Given the description of an element on the screen output the (x, y) to click on. 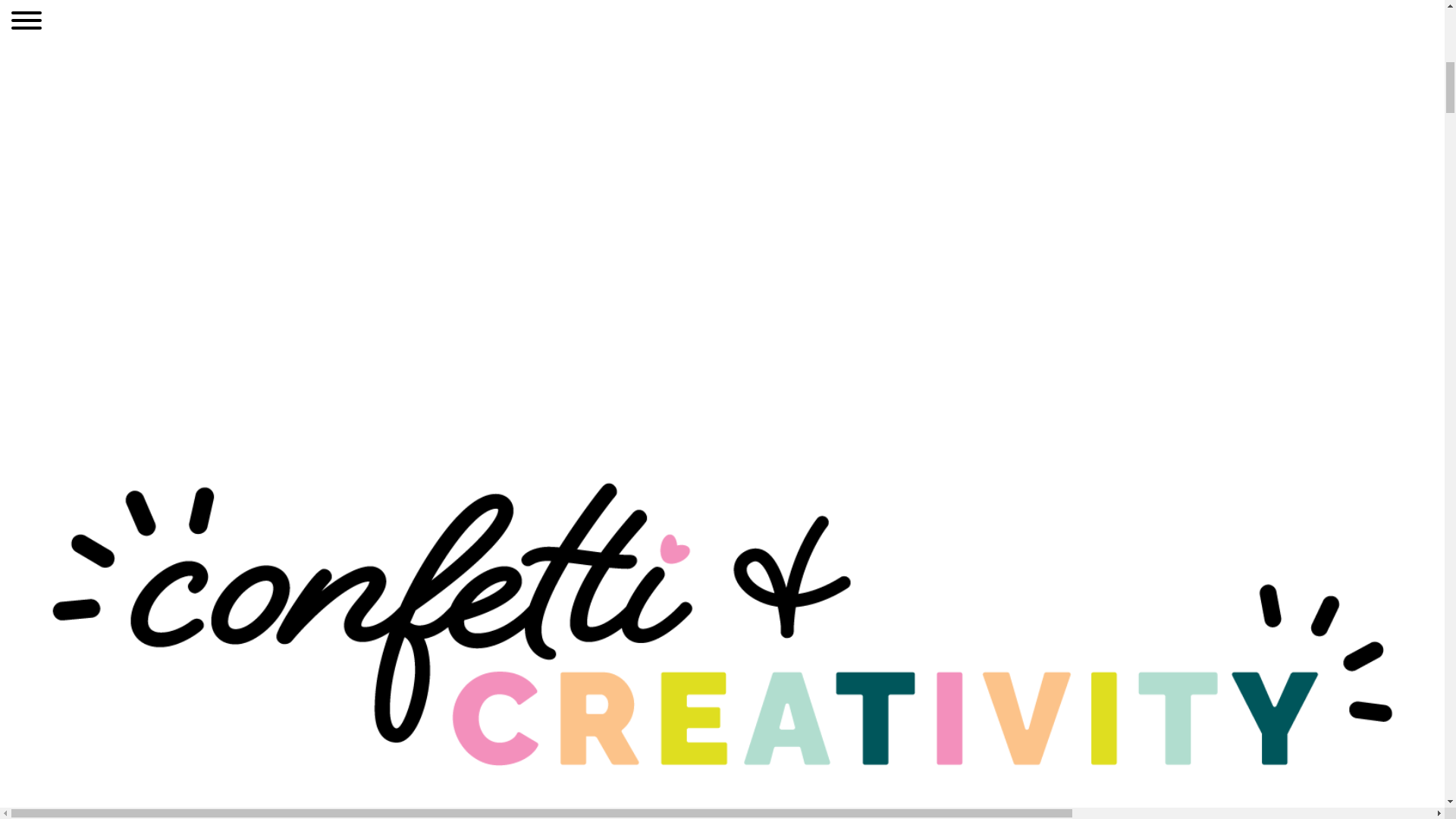
FREEBIES (380, 774)
Freebies (380, 774)
